Given the description of an element on the screen output the (x, y) to click on. 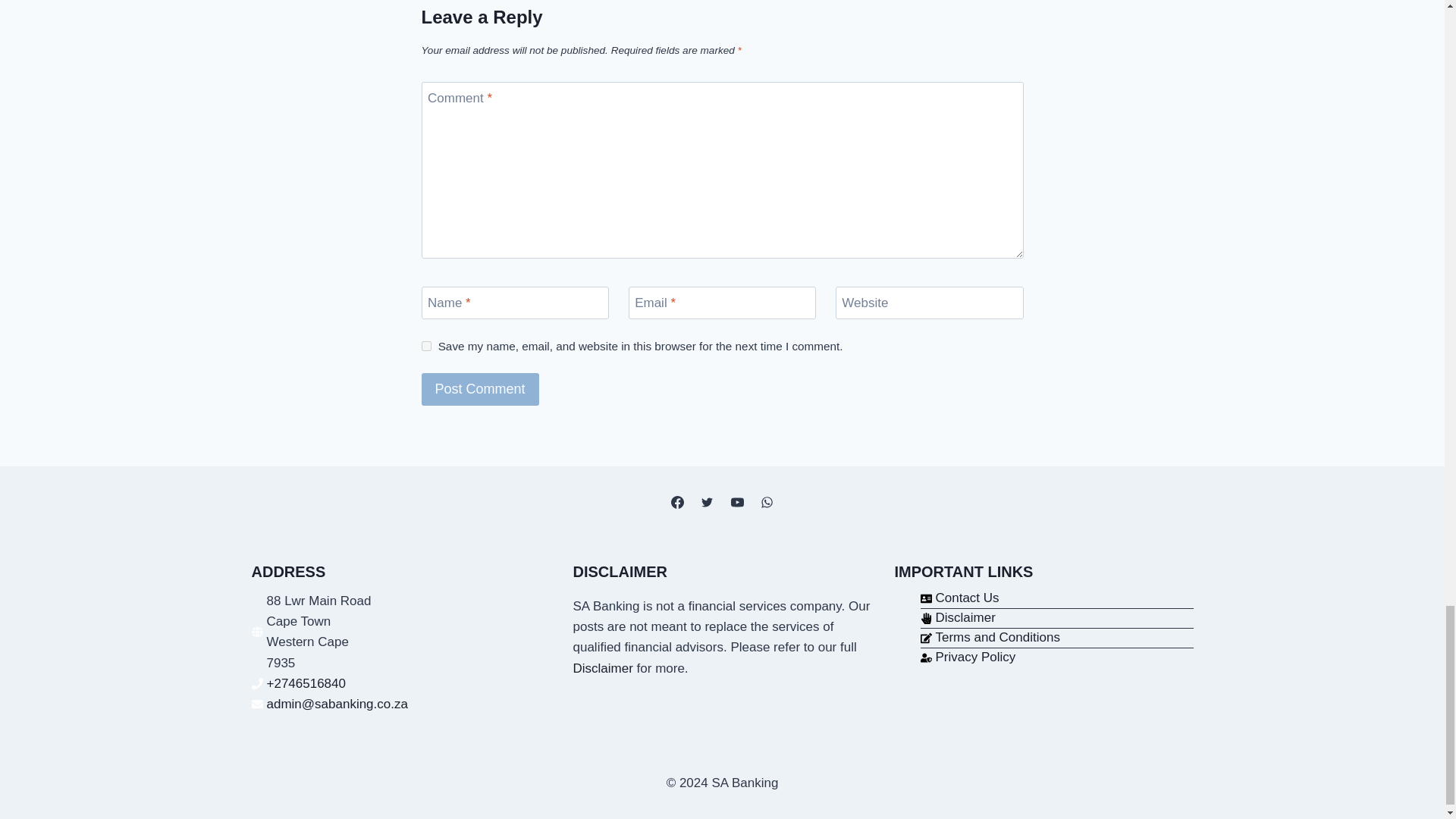
Disclaimer (603, 667)
Post Comment (480, 389)
yes (426, 346)
Post Comment (480, 389)
Privacy Policy (968, 657)
Terms and Conditions (989, 637)
Contact Us (959, 598)
Disclaimer (957, 617)
